Given the description of an element on the screen output the (x, y) to click on. 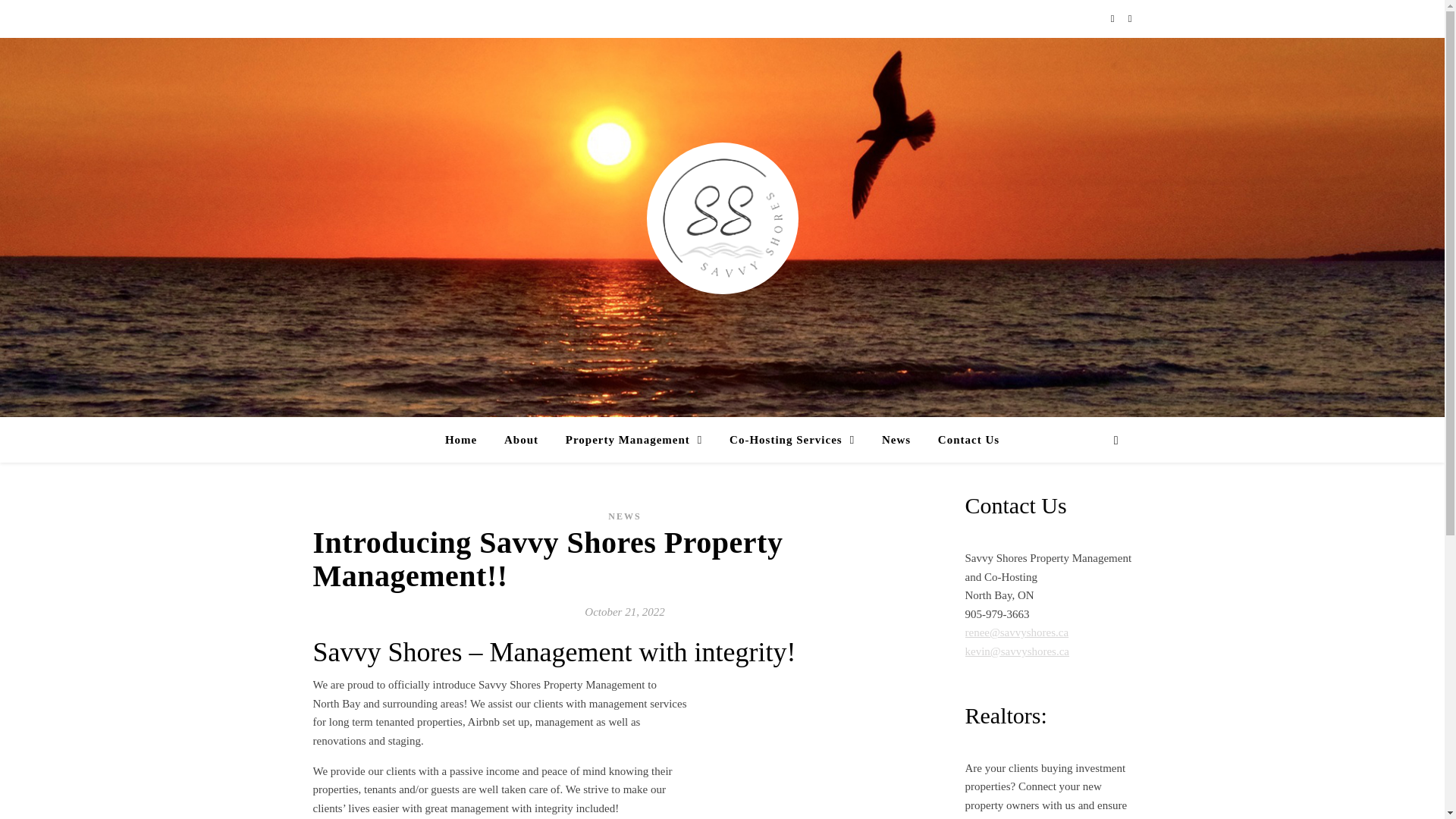
Home (467, 439)
Contact Us (962, 439)
About (521, 439)
News (896, 439)
Co-Hosting Services (791, 439)
Property Management (633, 439)
Savvy Shores Property Maintenance and Co-Hosting (721, 218)
NEWS (624, 516)
